Given the description of an element on the screen output the (x, y) to click on. 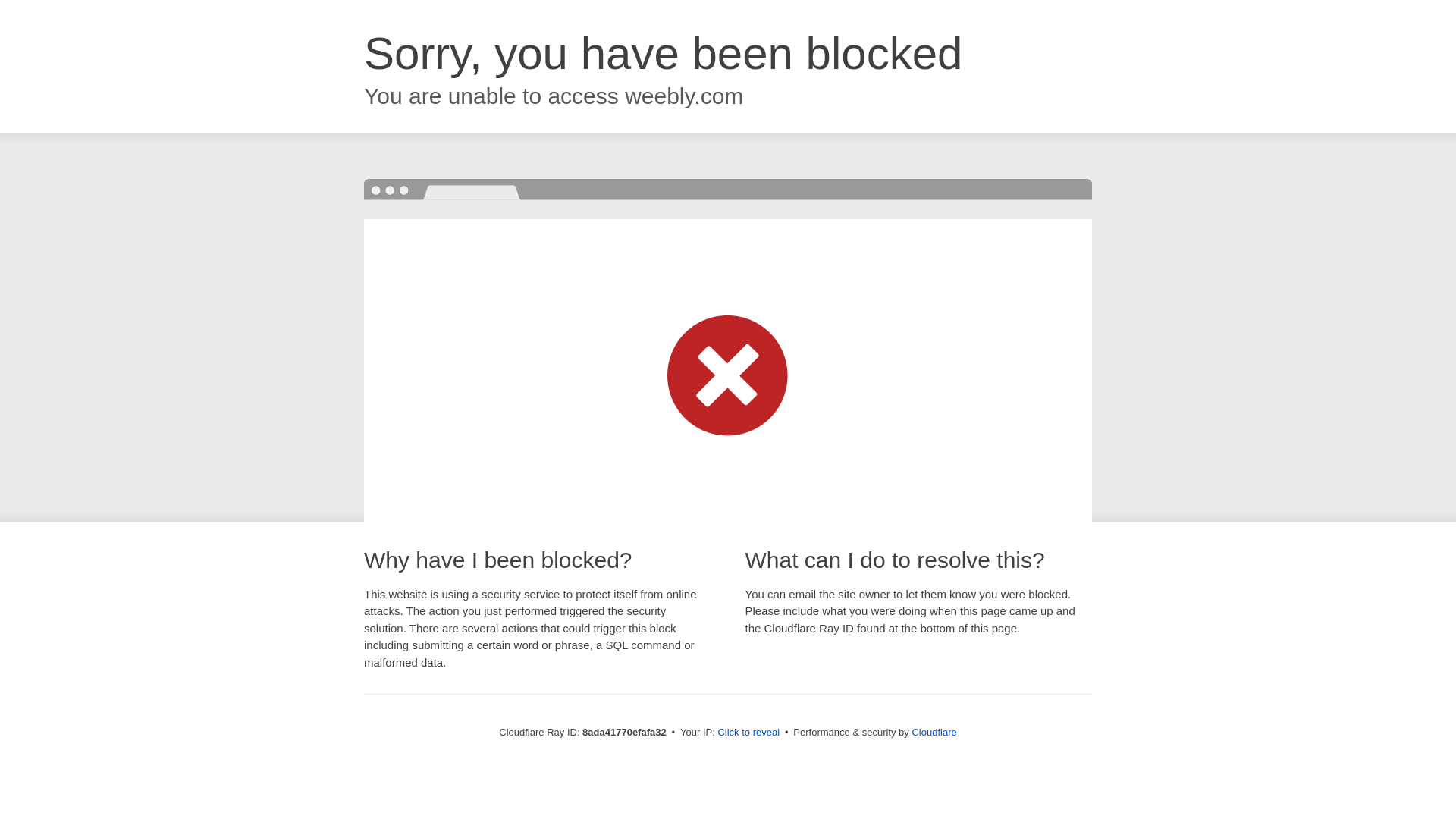
Cloudflare (933, 731)
Click to reveal (747, 732)
